Given the description of an element on the screen output the (x, y) to click on. 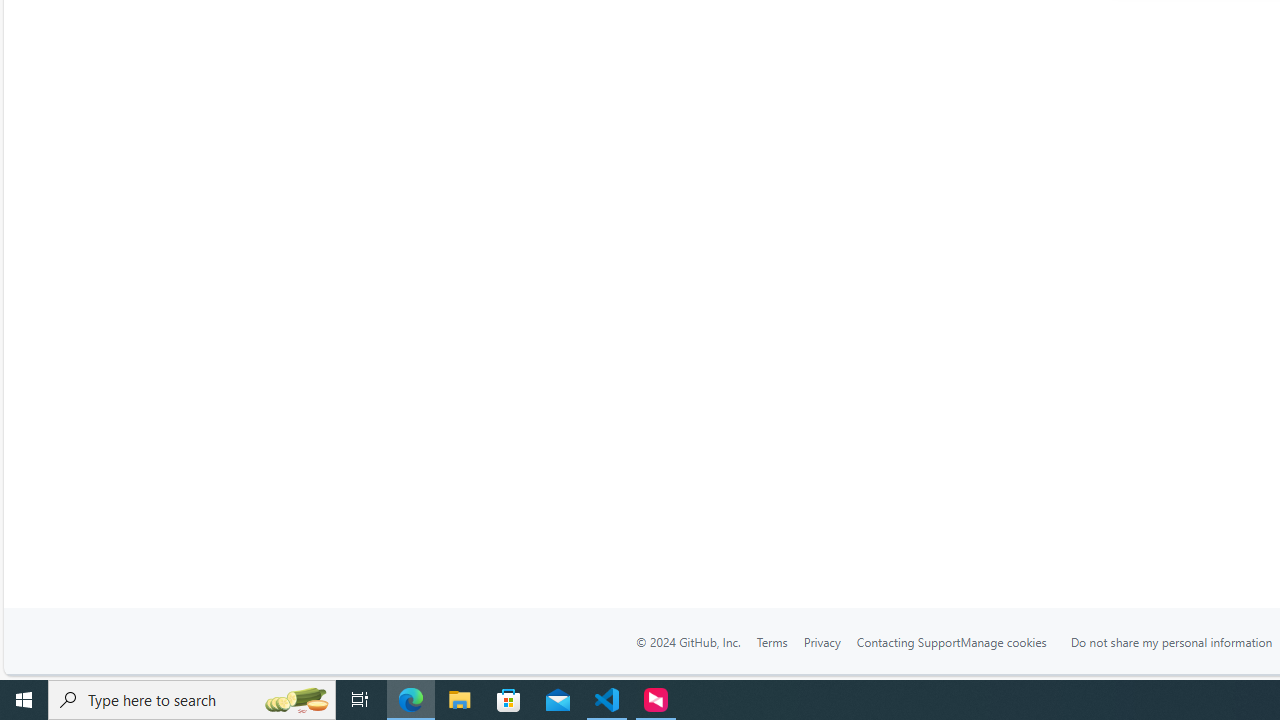
Manage cookies (1003, 641)
Do not share my personal information (1171, 641)
Contacting Support (908, 641)
Terms (772, 641)
Contacting Support (908, 642)
Terms (772, 642)
